Given the description of an element on the screen output the (x, y) to click on. 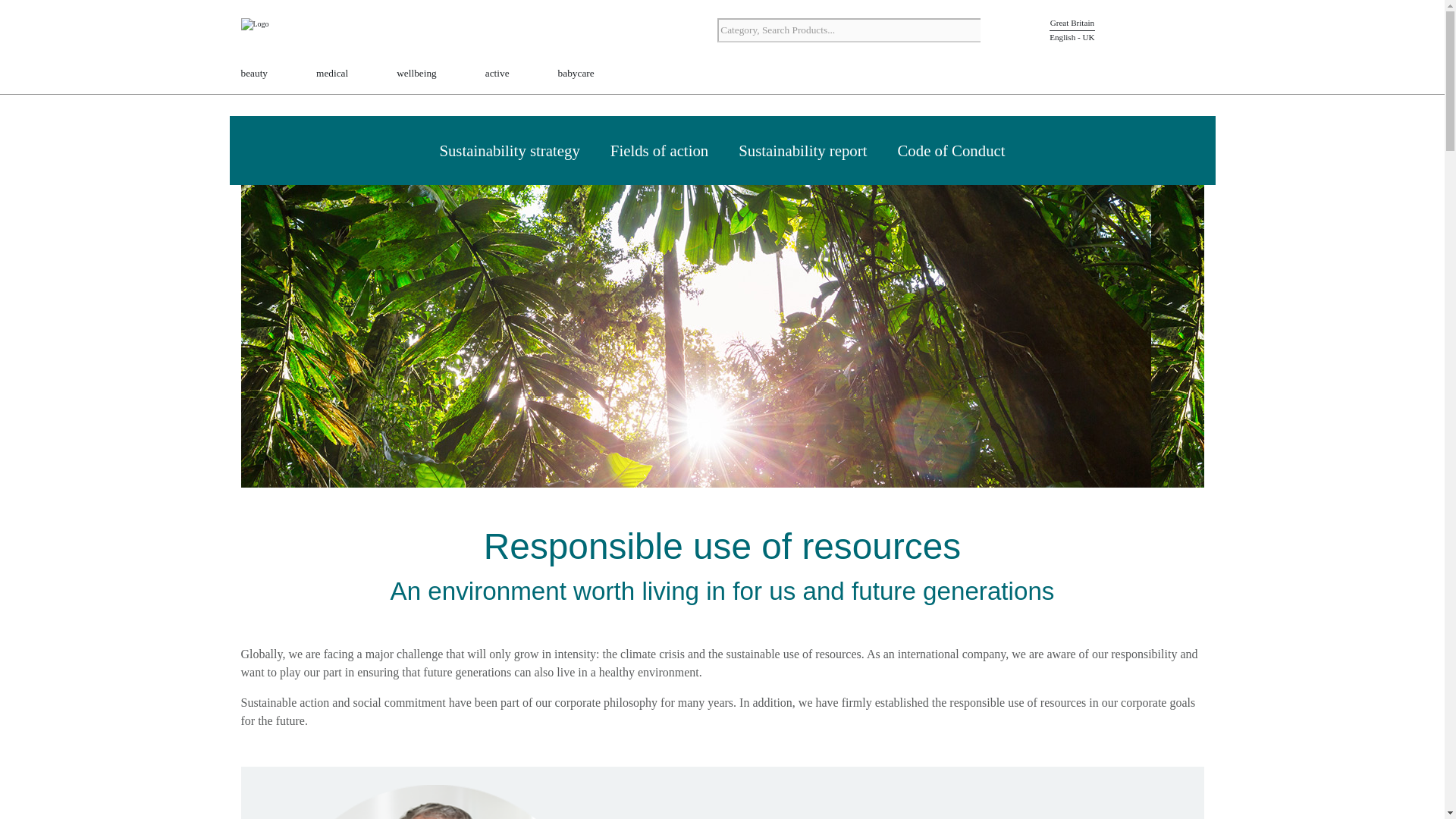
wellbeing (416, 73)
medical (331, 73)
babycare (575, 73)
beauty (254, 73)
active (496, 73)
Logo (287, 31)
beauty (254, 73)
